Given the description of an element on the screen output the (x, y) to click on. 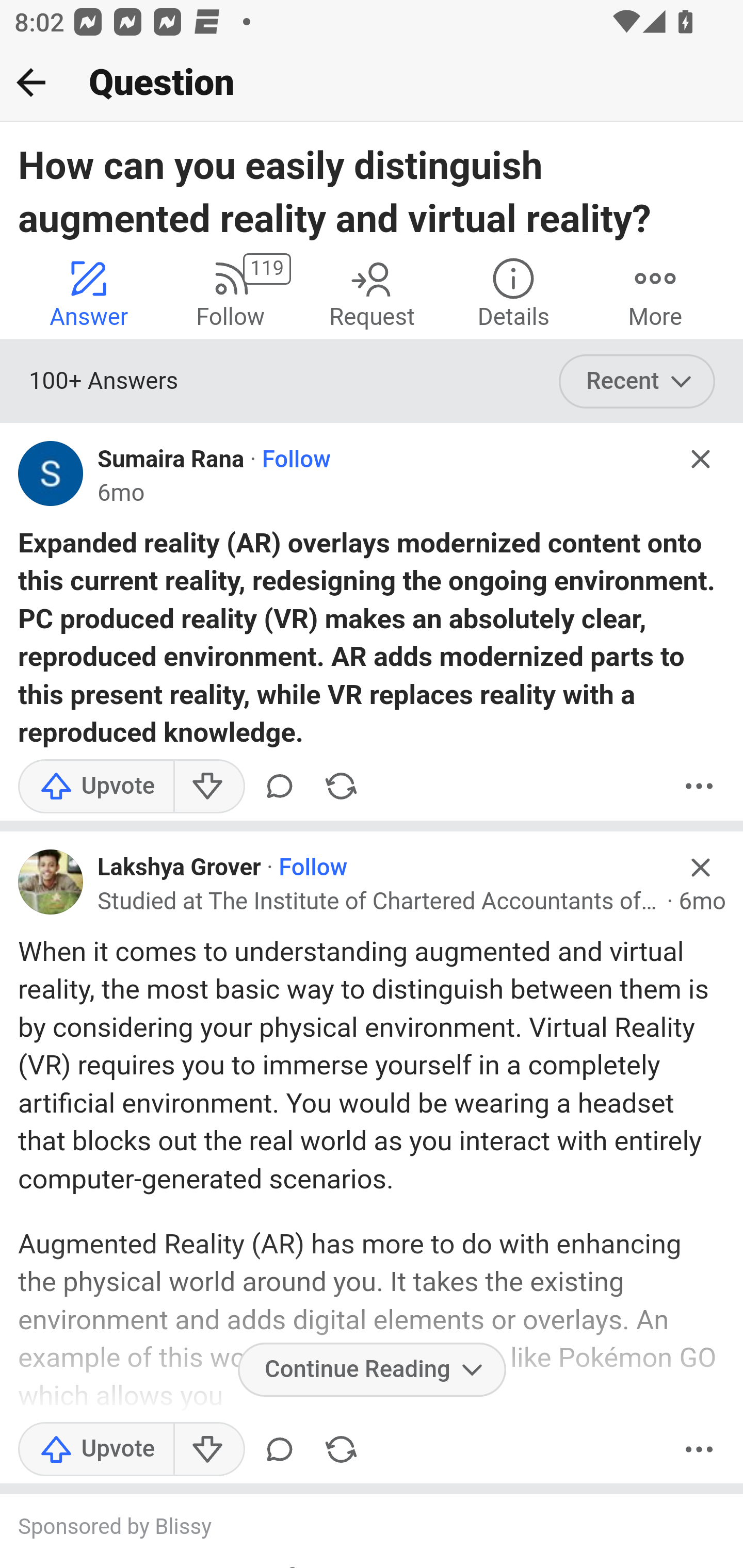
Back Question (371, 82)
Back (30, 82)
Answer (88, 292)
119 Follow (230, 292)
Request (371, 292)
Details (513, 292)
More (655, 292)
Recent (636, 381)
Hide (700, 459)
Profile photo for Sumaira Rana (50, 473)
Sumaira Rana (171, 459)
Follow (296, 459)
6mo 6 mo (121, 493)
Upvote (95, 786)
Downvote (208, 786)
Comment (278, 786)
Share (341, 786)
More (699, 786)
Hide (700, 867)
Profile photo for Lakshya Grover (50, 880)
Lakshya Grover (179, 867)
Follow (312, 867)
6mo 6 mo (701, 901)
Continue Reading (371, 1369)
Upvote (95, 1449)
Downvote (208, 1449)
Comment (278, 1449)
Share (341, 1449)
More (699, 1449)
Sponsored by Blissy (352, 1528)
